Given the description of an element on the screen output the (x, y) to click on. 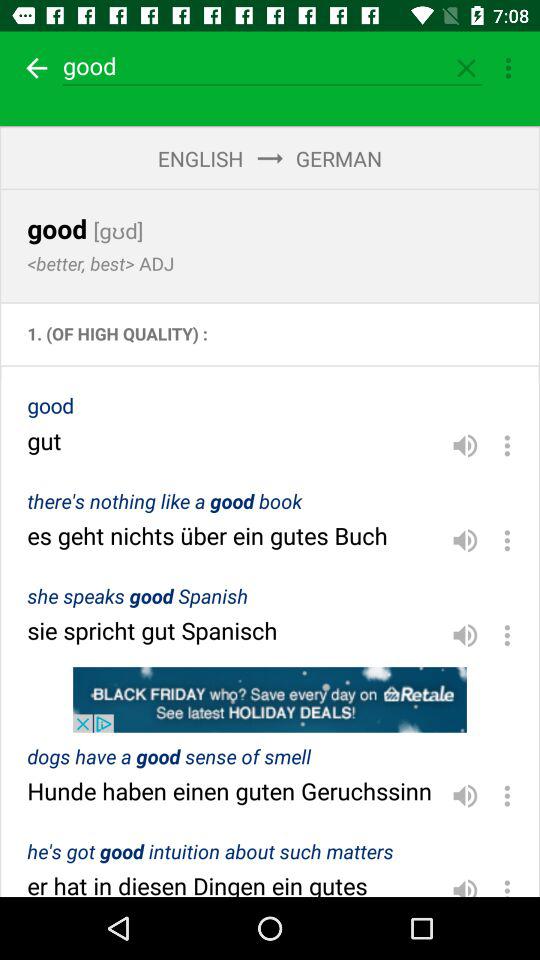
go to options (507, 635)
